Given the description of an element on the screen output the (x, y) to click on. 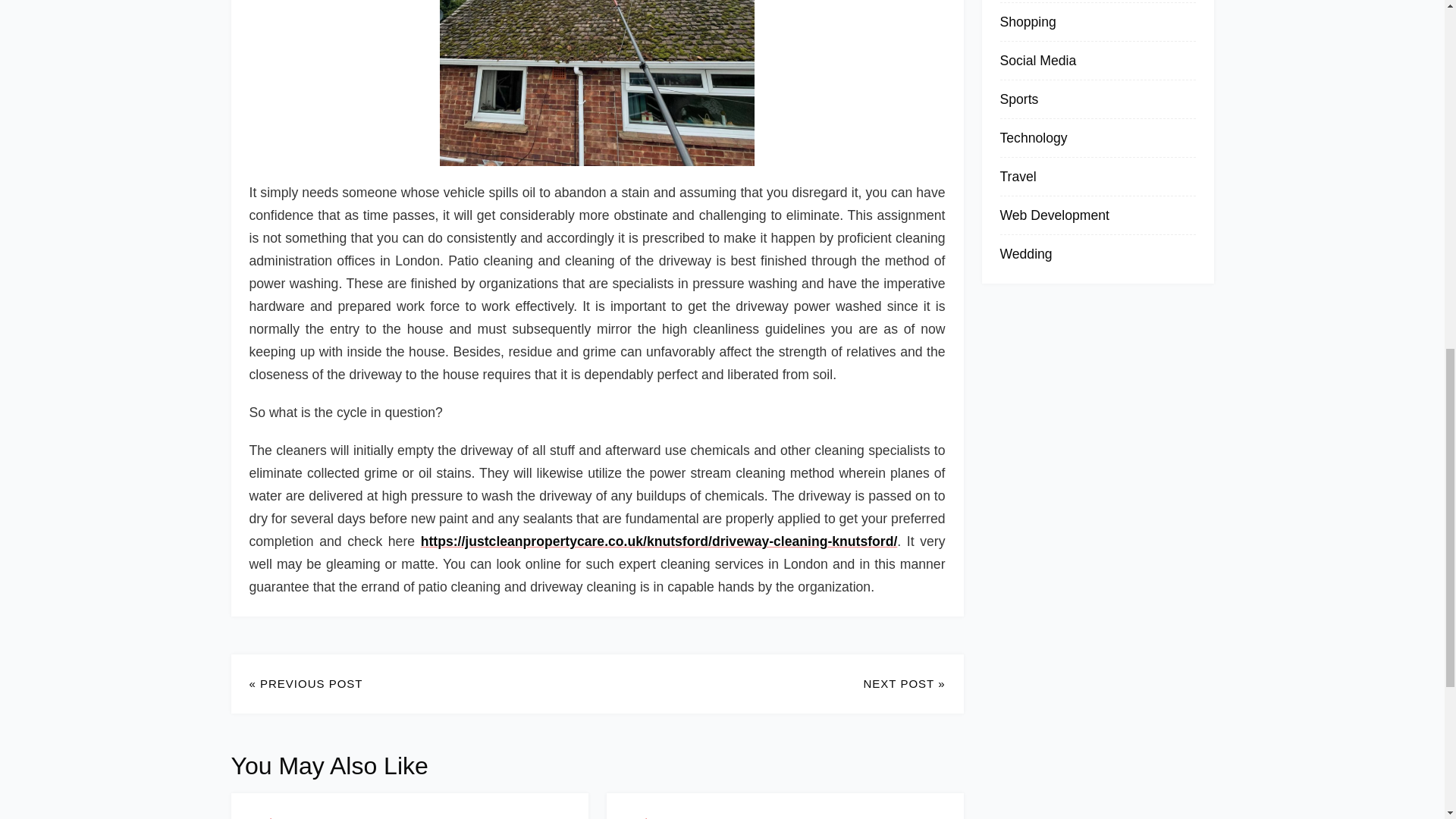
Business (271, 817)
Shopping (1026, 21)
Sports (1018, 99)
Technology (1032, 137)
Travel (1016, 176)
Business (647, 817)
Social Media (1036, 60)
